Given the description of an element on the screen output the (x, y) to click on. 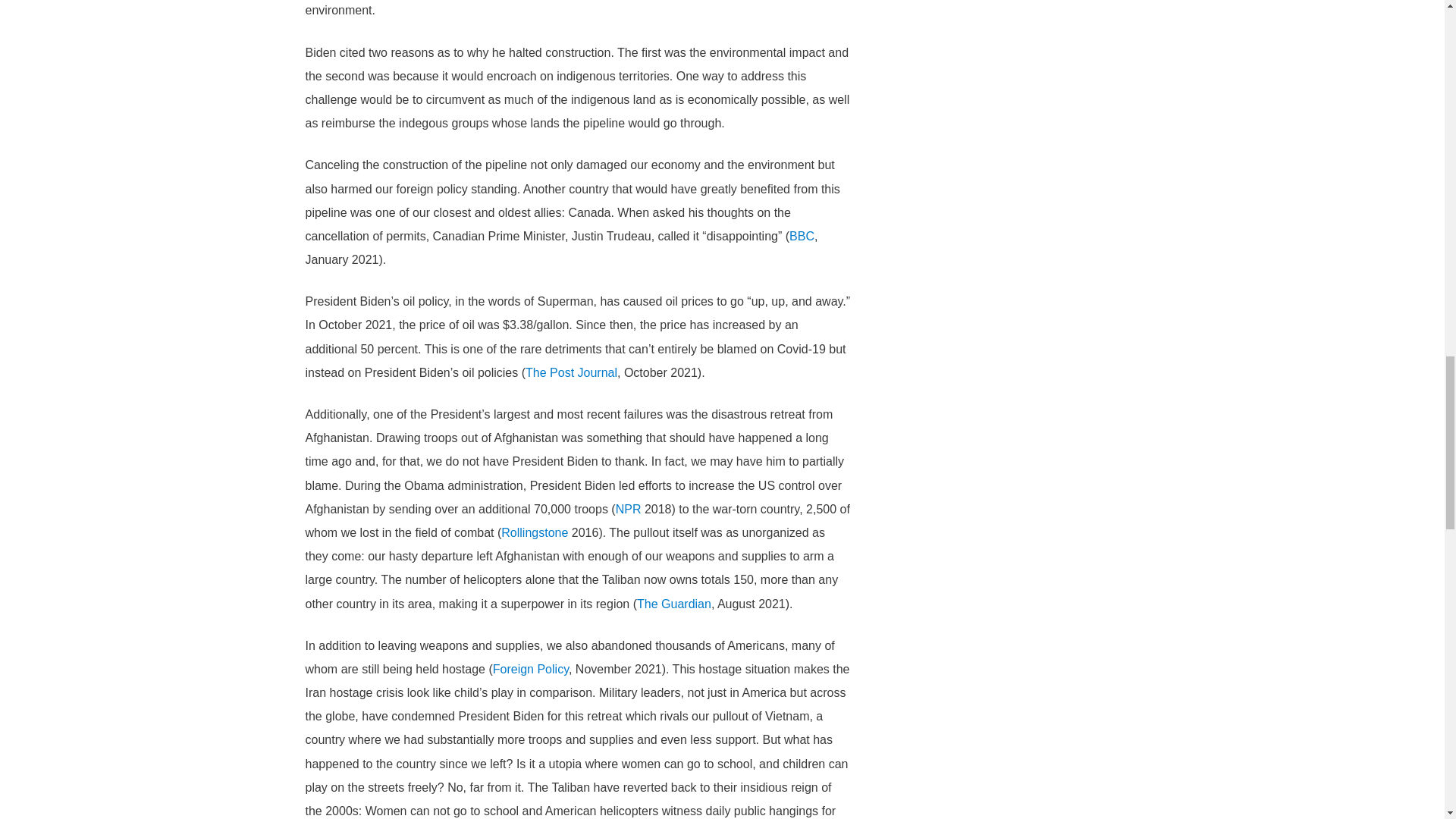
The Guardian (674, 603)
Rollingstone (533, 532)
The Post Journal (571, 372)
NPR (628, 508)
Foreign Policy (531, 668)
BBC (801, 236)
